Given the description of an element on the screen output the (x, y) to click on. 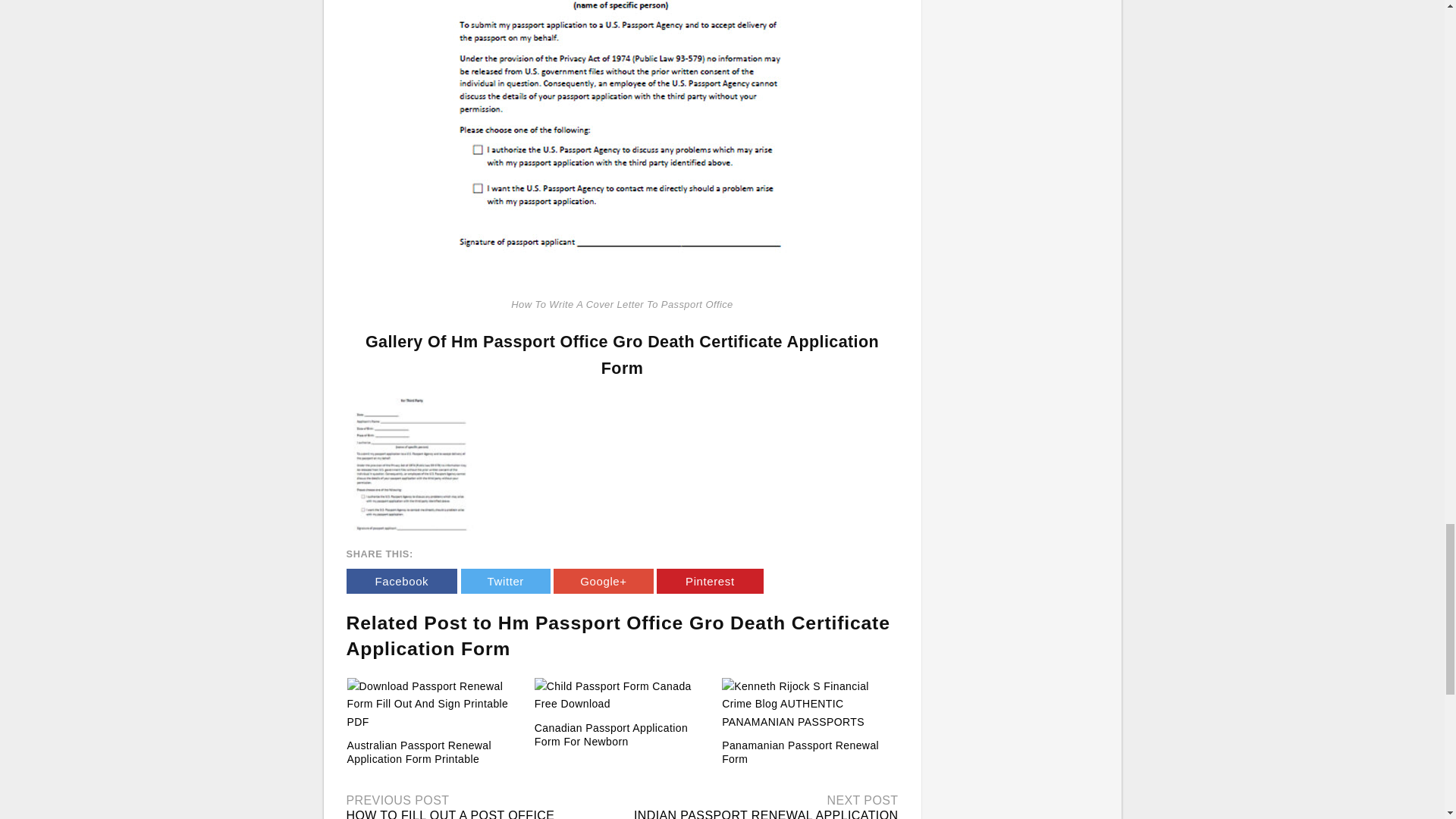
Panamanian Passport Renewal Form (800, 751)
Australian Passport Renewal Application Form Printable (419, 751)
INDIAN PASSPORT RENEWAL APPLICATION FORM IN USA HOW TO GET (765, 814)
Canadian Passport Application Form For Newborn (610, 734)
Canadian Passport Application Form For Newborn (622, 695)
Panamanian Passport Renewal Form (809, 704)
Facebook (401, 580)
How To Write A Cover Letter To Passport Office (622, 55)
How To Write A Cover Letter To Passport Office (412, 463)
Panamanian Passport Renewal Form (800, 751)
How To Write A Cover Letter To Passport Office (412, 464)
Canadian Passport Application Form For Newborn (610, 734)
How To Write A Cover Letter To Passport Office (622, 145)
Twitter (505, 580)
Australian Passport Renewal Application Form Printable (434, 704)
